Given the description of an element on the screen output the (x, y) to click on. 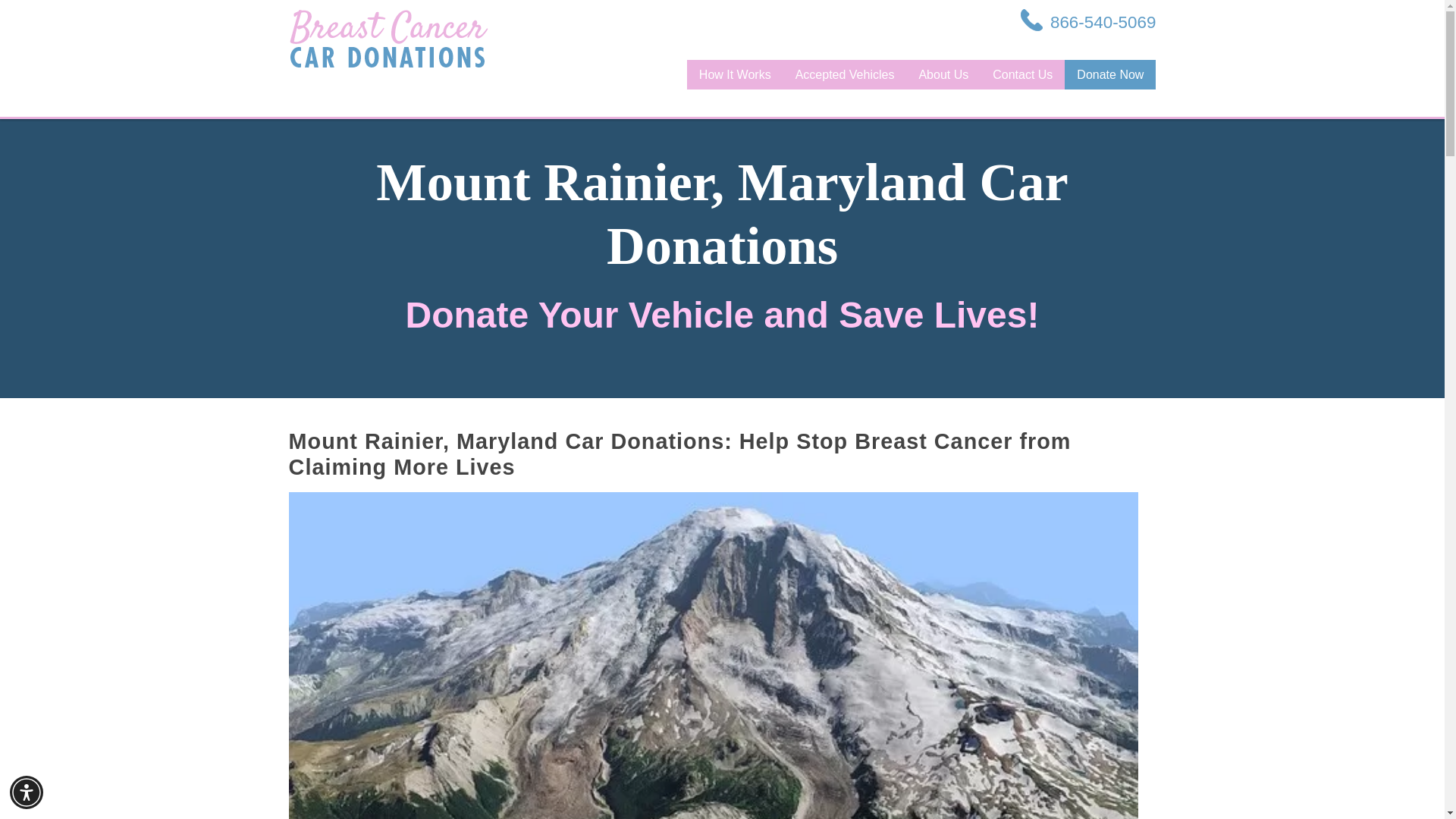
Donate Now (1110, 74)
Breast Cancer Car Donations (388, 38)
About Us (942, 74)
Accepted Vehicles (845, 74)
Contact Us (1021, 74)
How It Works (735, 74)
Accessibility Menu (26, 792)
866-540-5069 (1088, 22)
